Given the description of an element on the screen output the (x, y) to click on. 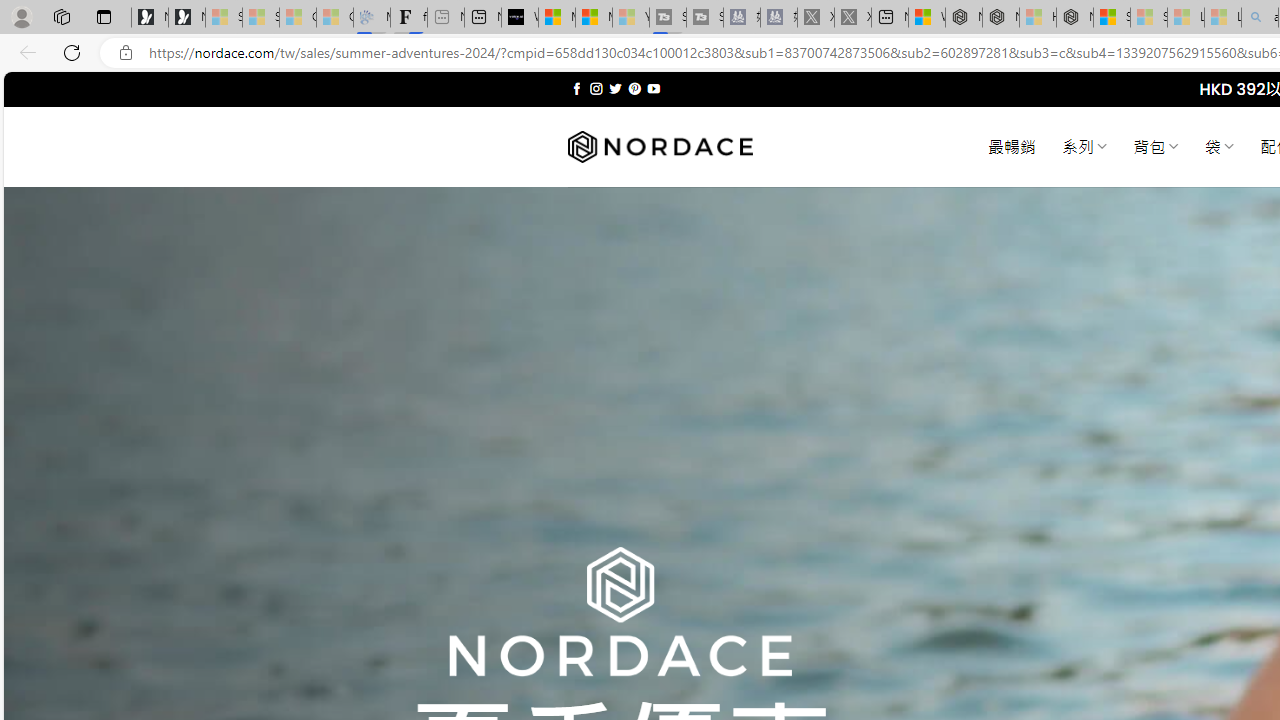
Newsletter Sign Up (186, 17)
Follow on Instagram (596, 88)
Follow on Twitter (615, 88)
